Given the description of an element on the screen output the (x, y) to click on. 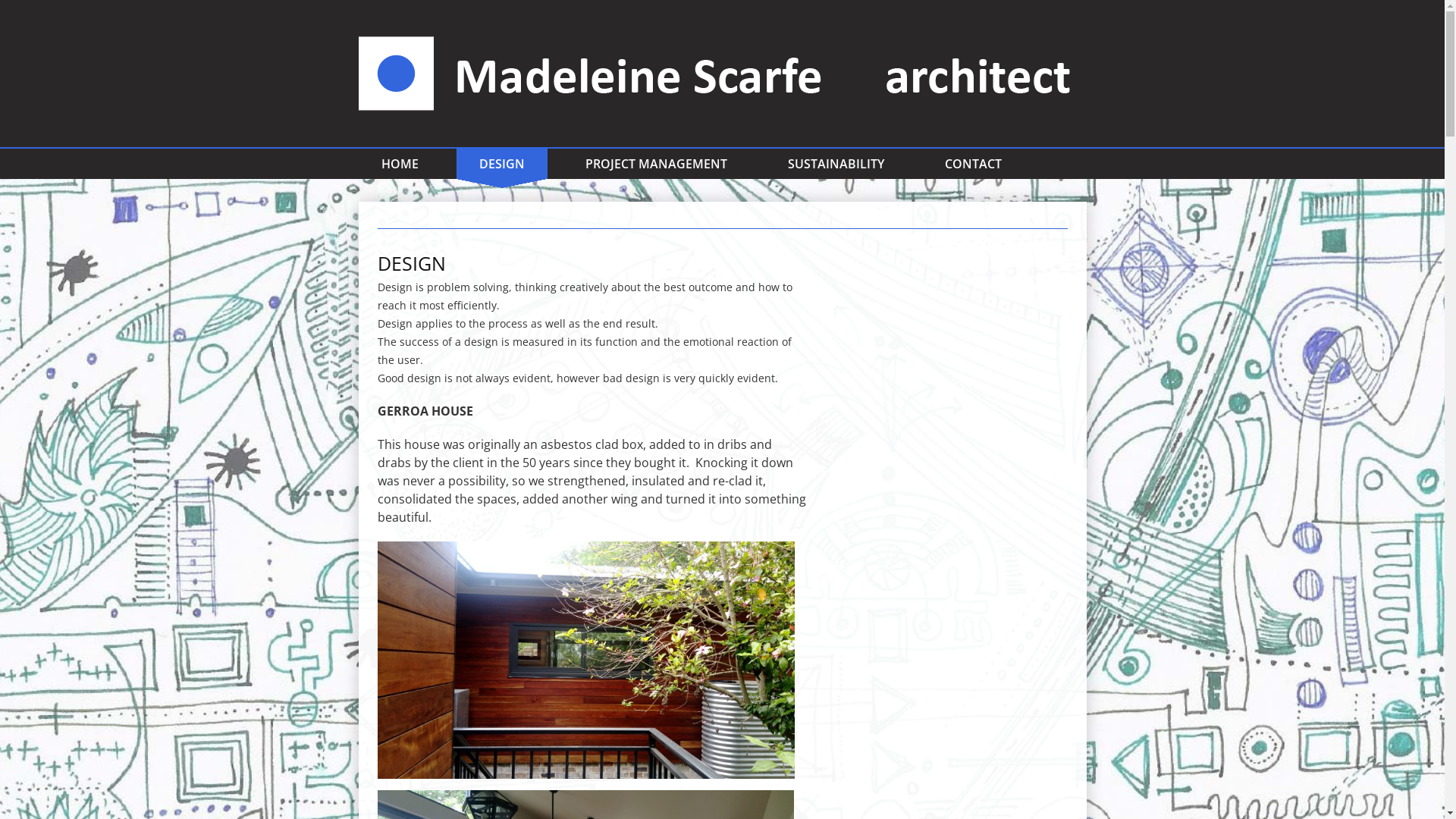
HOME Element type: text (398, 163)
DESIGN Element type: text (501, 163)
SUSTAINABILITY Element type: text (835, 163)
PROJECT MANAGEMENT Element type: text (655, 163)
CONTACT Element type: text (973, 163)
MADELEINE SCARFE ARCHITECT Element type: text (721, 73)
